Given the description of an element on the screen output the (x, y) to click on. 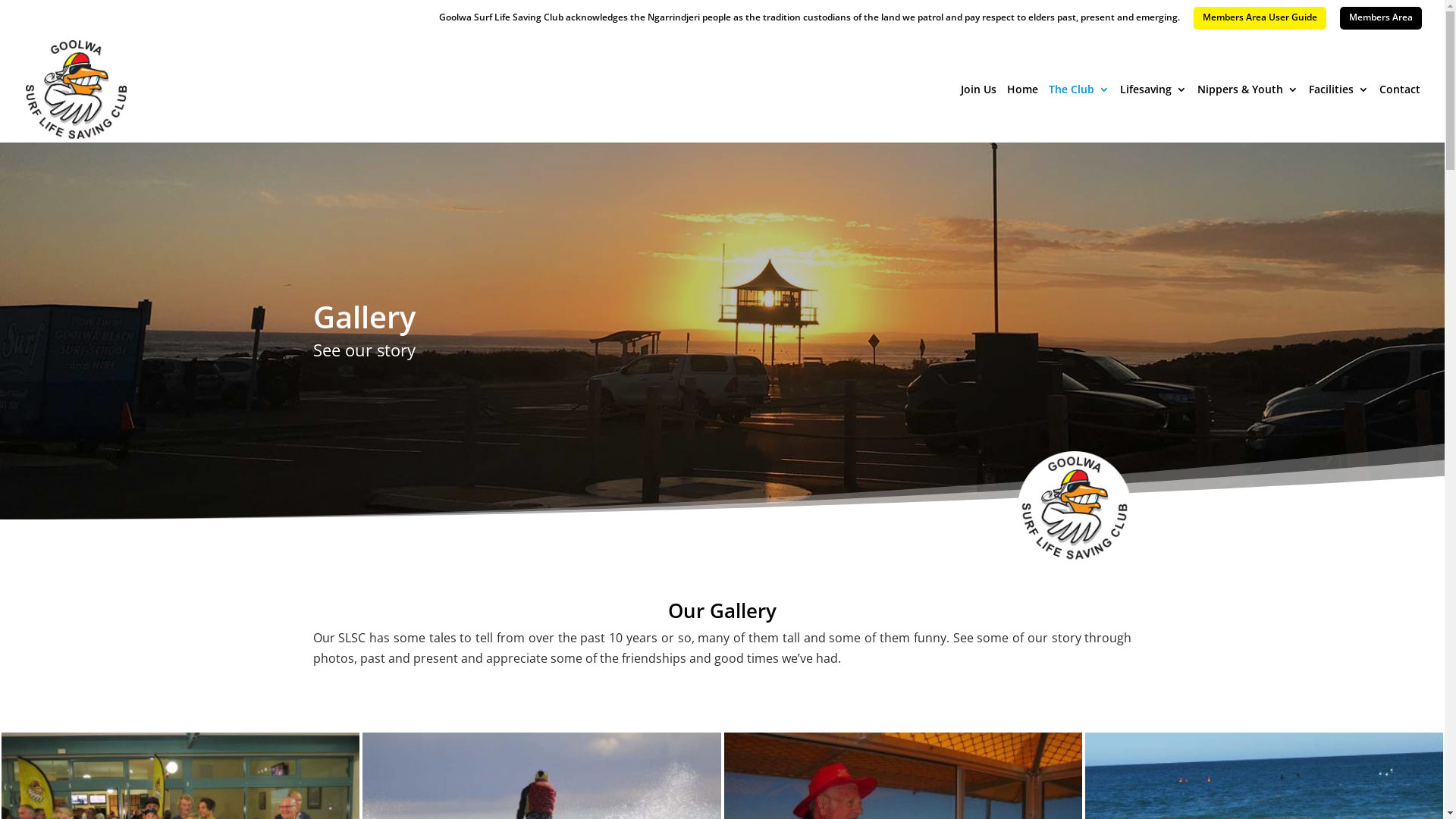
Facilities Element type: text (1338, 113)
Home Element type: text (1022, 113)
Members Area Element type: text (1380, 17)
Lifesaving Element type: text (1153, 113)
Members Area User Guide Element type: text (1259, 17)
The Club Element type: text (1078, 113)
Untitled-1 Element type: hover (1074, 507)
Join Us Element type: text (978, 113)
Nippers & Youth Element type: text (1247, 113)
Contact Element type: text (1399, 113)
